Given the description of an element on the screen output the (x, y) to click on. 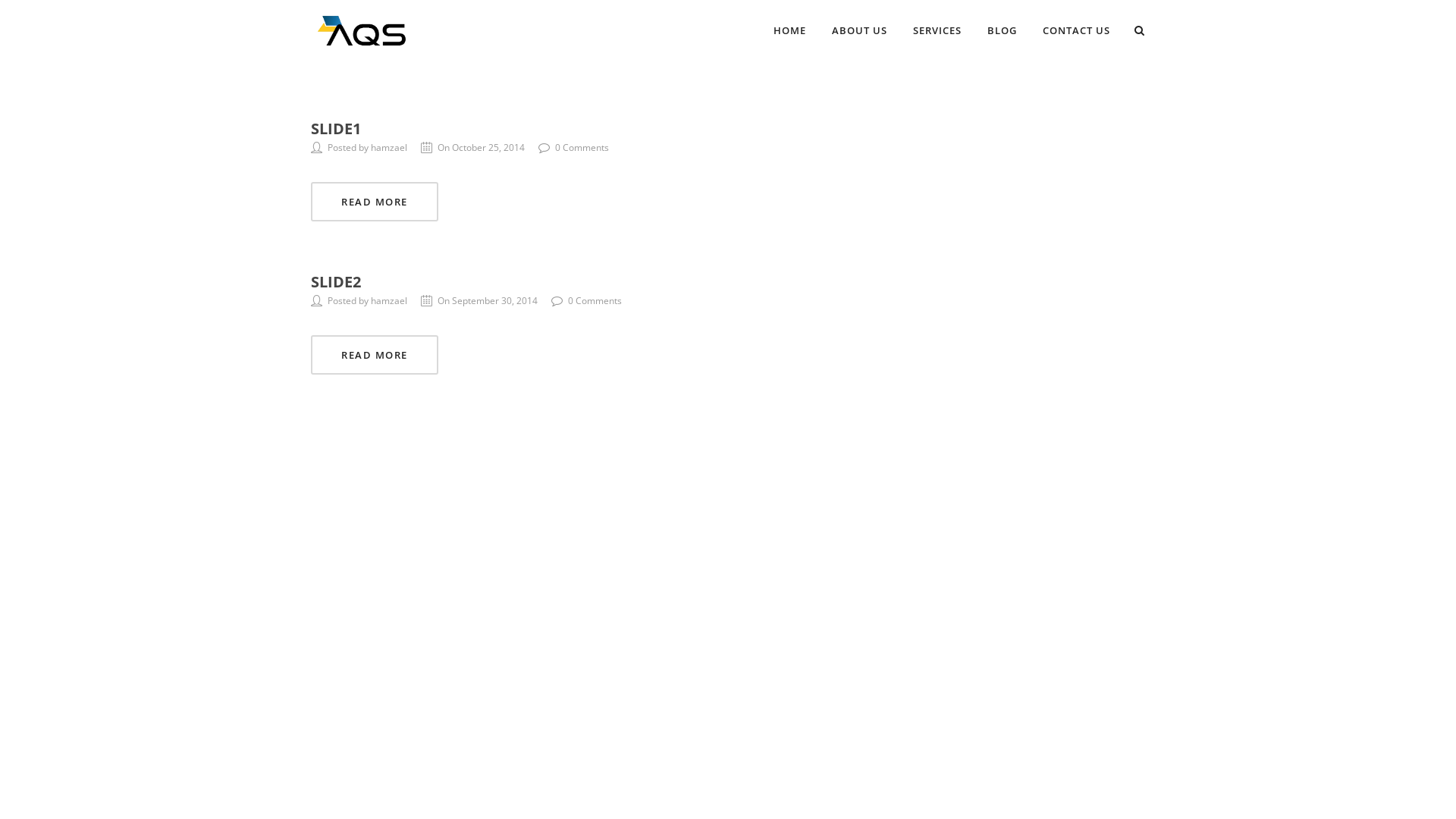
SLIDE1 Element type: text (335, 128)
BLOG Element type: text (1002, 29)
CONTACT US Element type: text (1076, 29)
SLIDE2 Element type: text (335, 281)
ABOUT US Element type: text (859, 29)
READ MORE Element type: text (374, 354)
SERVICES Element type: text (936, 29)
HOME Element type: text (789, 29)
READ MORE Element type: text (374, 201)
